Given the description of an element on the screen output the (x, y) to click on. 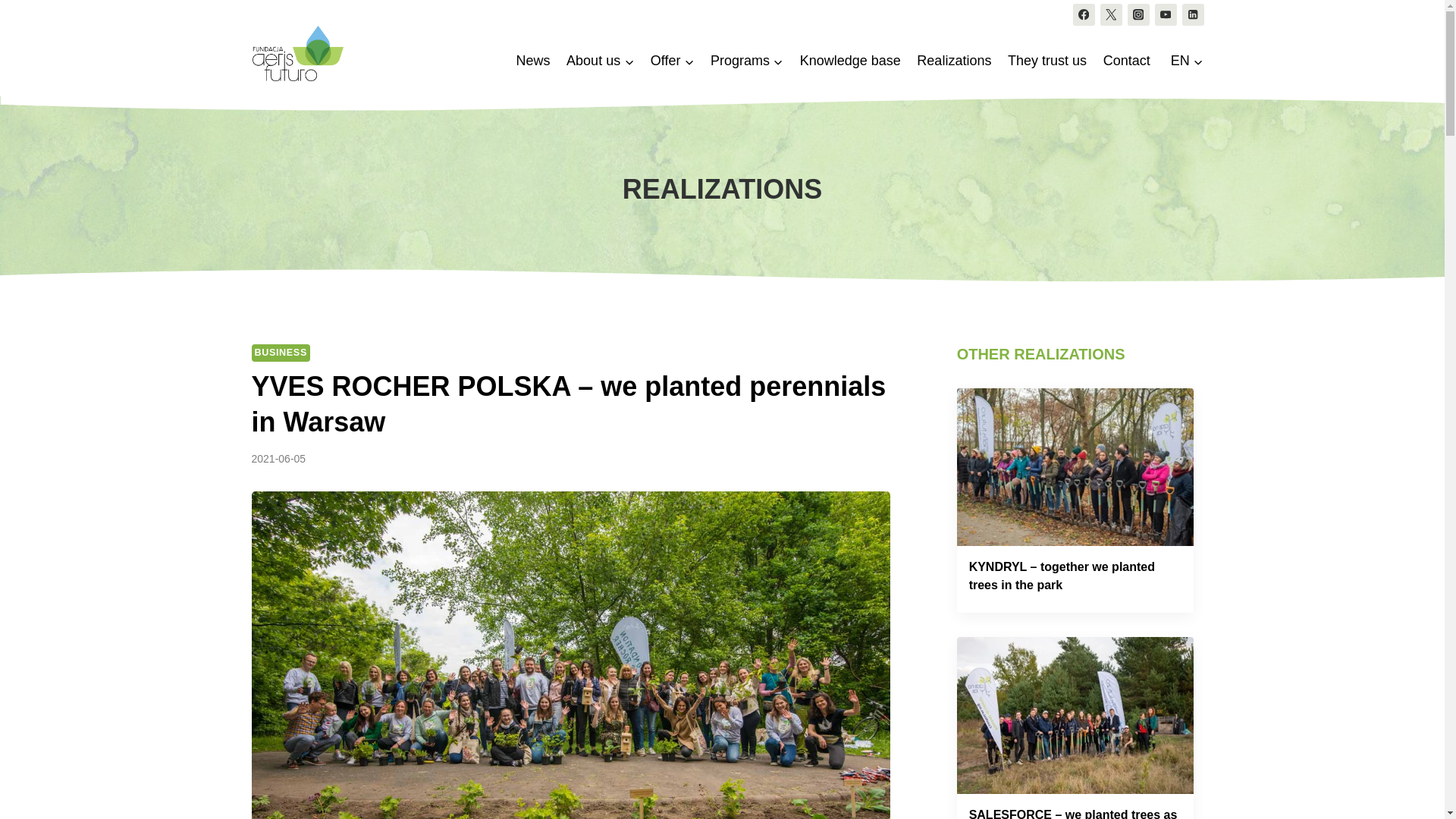
About us (599, 60)
Programs (746, 60)
Offer (671, 60)
News (533, 60)
Realizations (954, 60)
EN (1184, 60)
Knowledge base (850, 60)
They trust us (1046, 60)
